Given the description of an element on the screen output the (x, y) to click on. 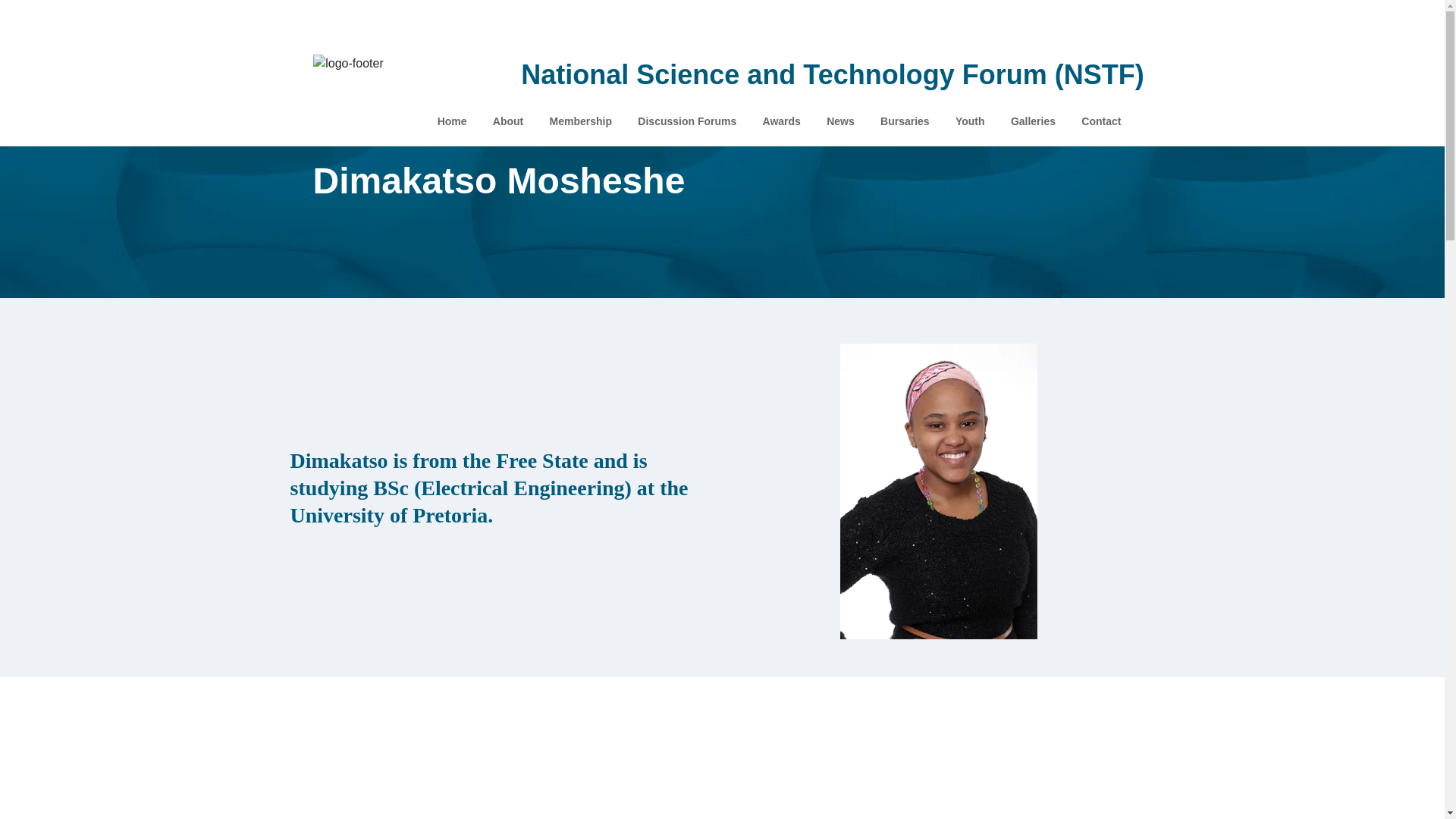
logo-footer (348, 63)
Discussion Forums (686, 121)
Home (451, 121)
Membership (579, 121)
Awards (781, 121)
About (508, 121)
